Given the description of an element on the screen output the (x, y) to click on. 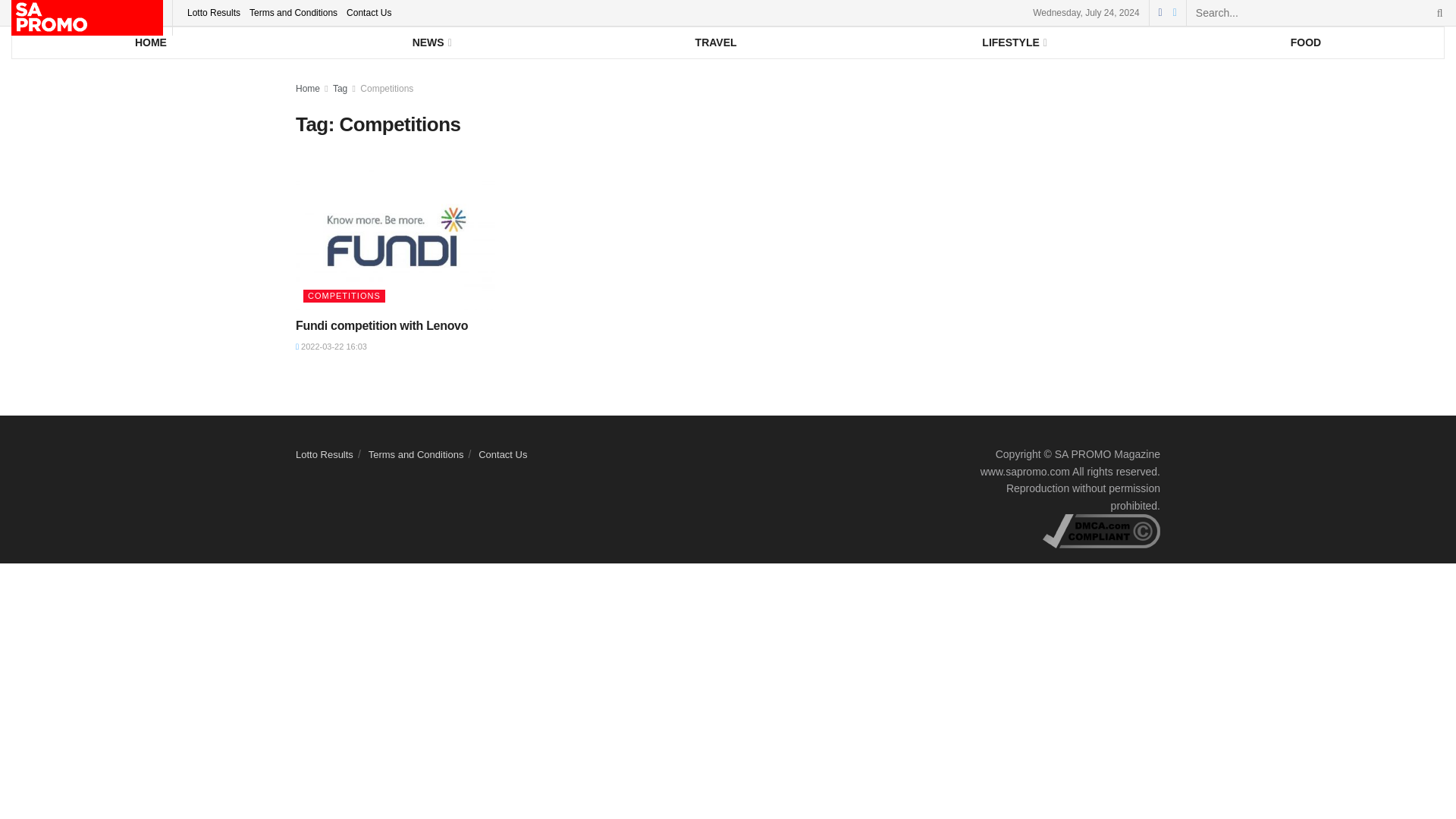
LIFESTYLE (1013, 42)
DMCA Compliance information for sapromo.com (1101, 530)
FOOD (1305, 42)
TRAVEL (716, 42)
Terms and Conditions (292, 12)
HOME (150, 42)
NEWS (430, 42)
Lotto Results (213, 12)
Contact Us (368, 12)
